Given the description of an element on the screen output the (x, y) to click on. 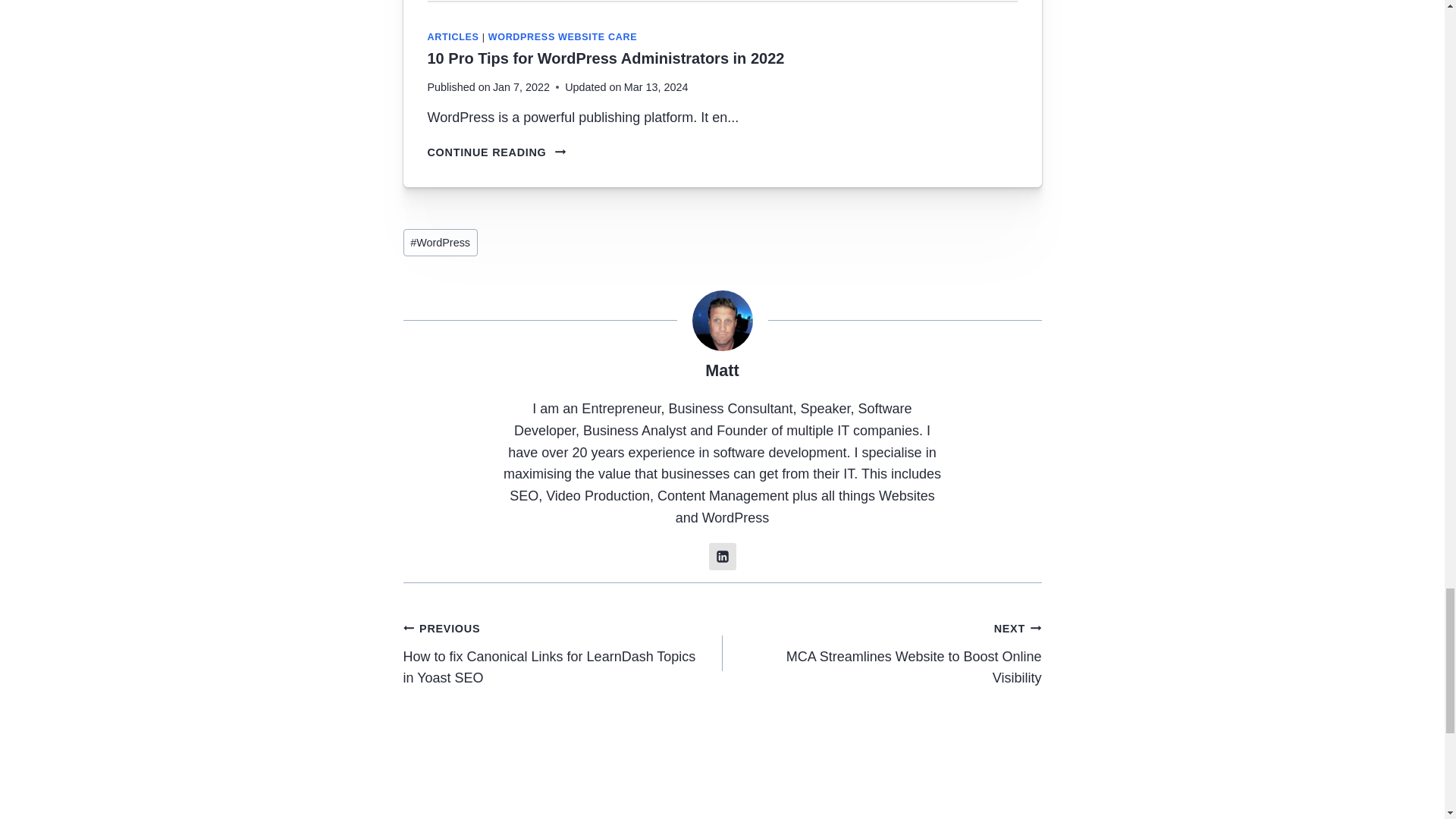
WordPress (440, 243)
Follow Matt on Linkedin (721, 556)
Posts by Matt (721, 370)
